Given the description of an element on the screen output the (x, y) to click on. 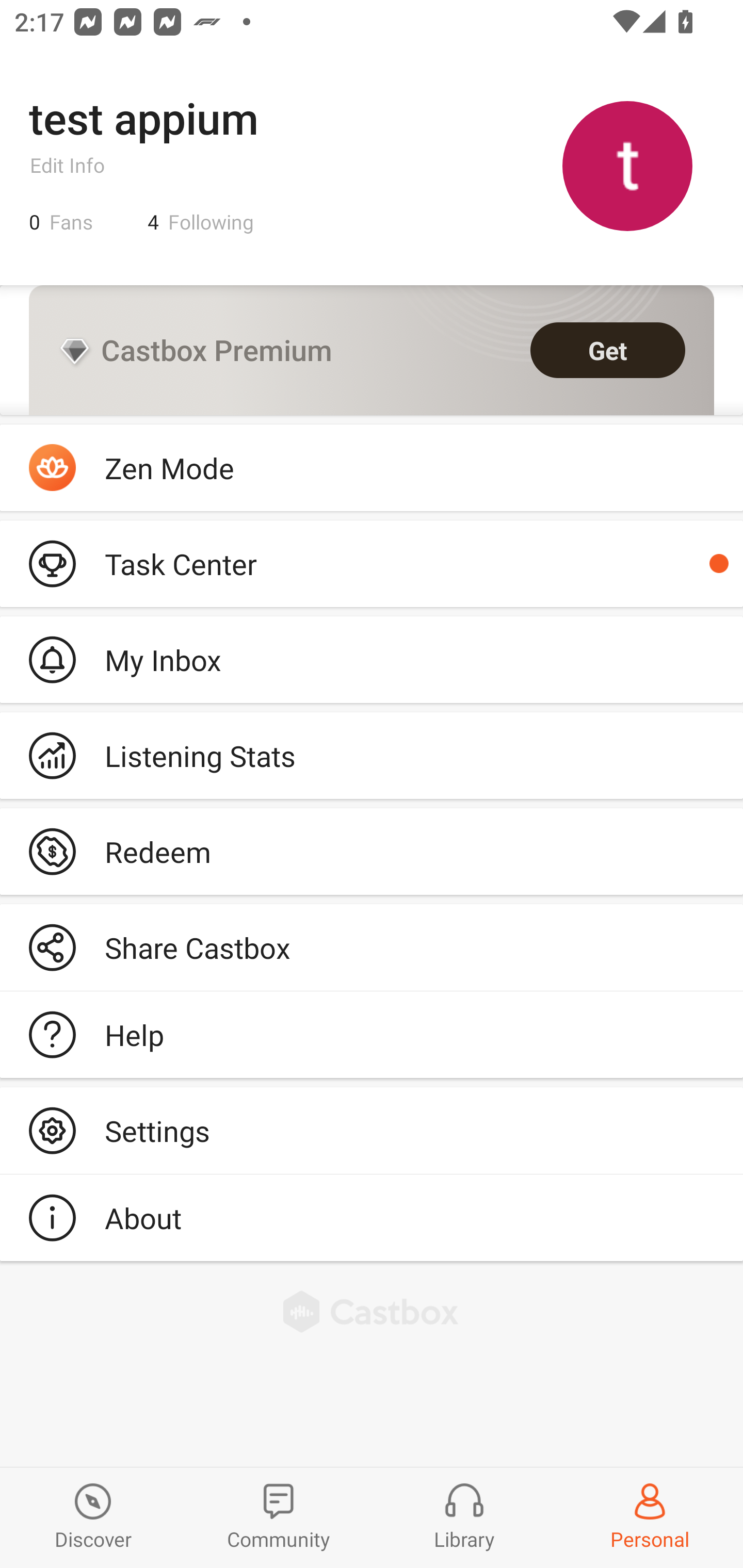
test appium Edit Info 0 Fans 4 Following (371, 165)
0 Fans (60, 221)
4 Following (200, 221)
Castbox Premium Get (371, 350)
Get (607, 350)
Zen Mode (371, 467)
Podcaster  Task Center (371, 563)
 My Inbox (371, 659)
 Listening Stats (371, 755)
 Redeem (371, 851)
 Share Castbox (371, 947)
 Help (371, 1034)
 Settings (371, 1130)
 About (371, 1217)
Discover (92, 1517)
Community (278, 1517)
Library (464, 1517)
Profiles and Settings Personal (650, 1517)
